Given the description of an element on the screen output the (x, y) to click on. 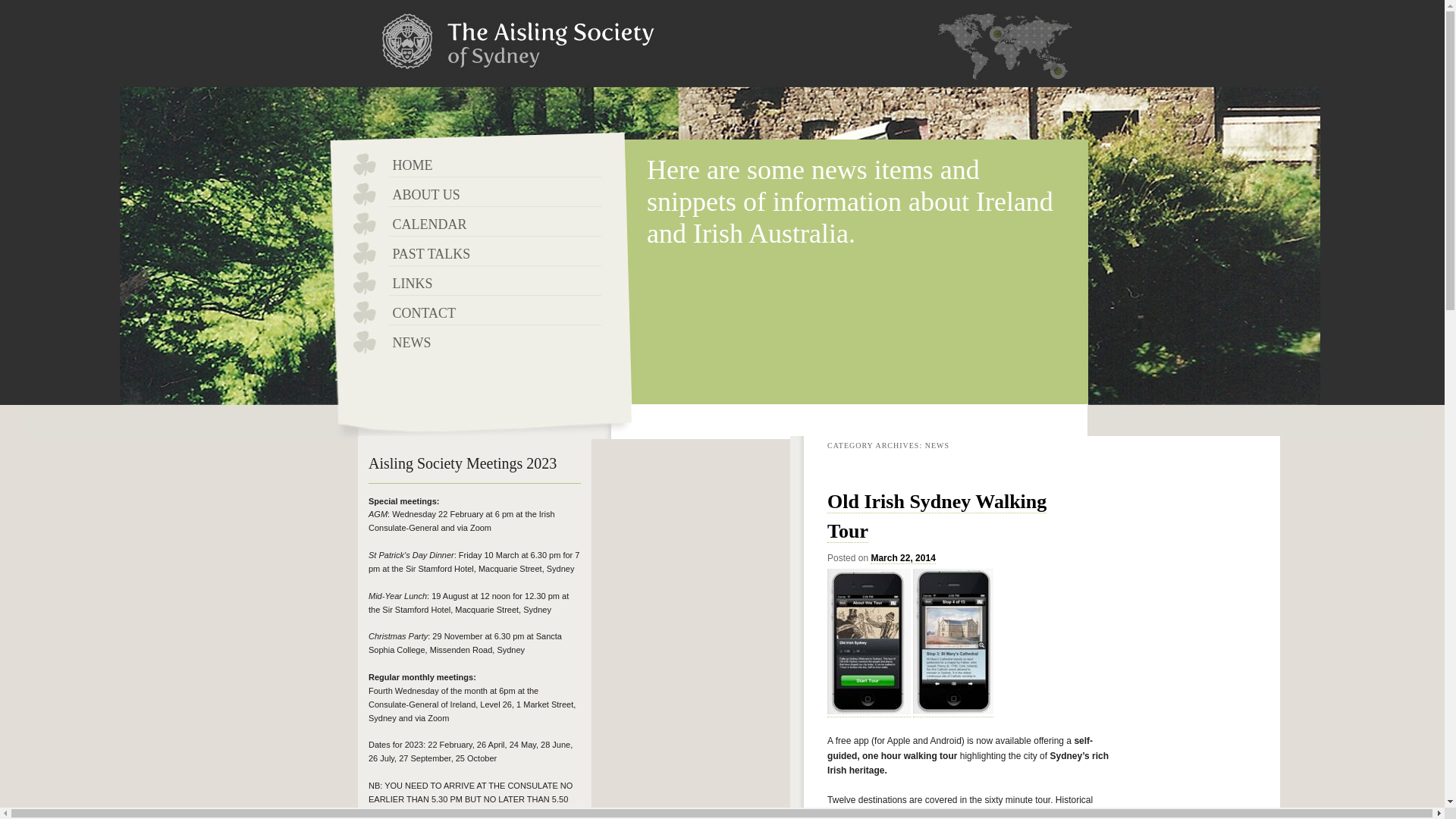
Old Irish Sydney Walking Tour Element type: text (936, 515)
HOME Element type: text (494, 164)
CALENDAR Element type: text (494, 223)
CONTACT Element type: text (494, 312)
LINKS Element type: text (494, 282)
ABOUT US Element type: text (494, 194)
NEWS Element type: text (494, 341)
March 22, 2014 Element type: text (902, 558)
PAST TALKS Element type: text (494, 253)
